Given the description of an element on the screen output the (x, y) to click on. 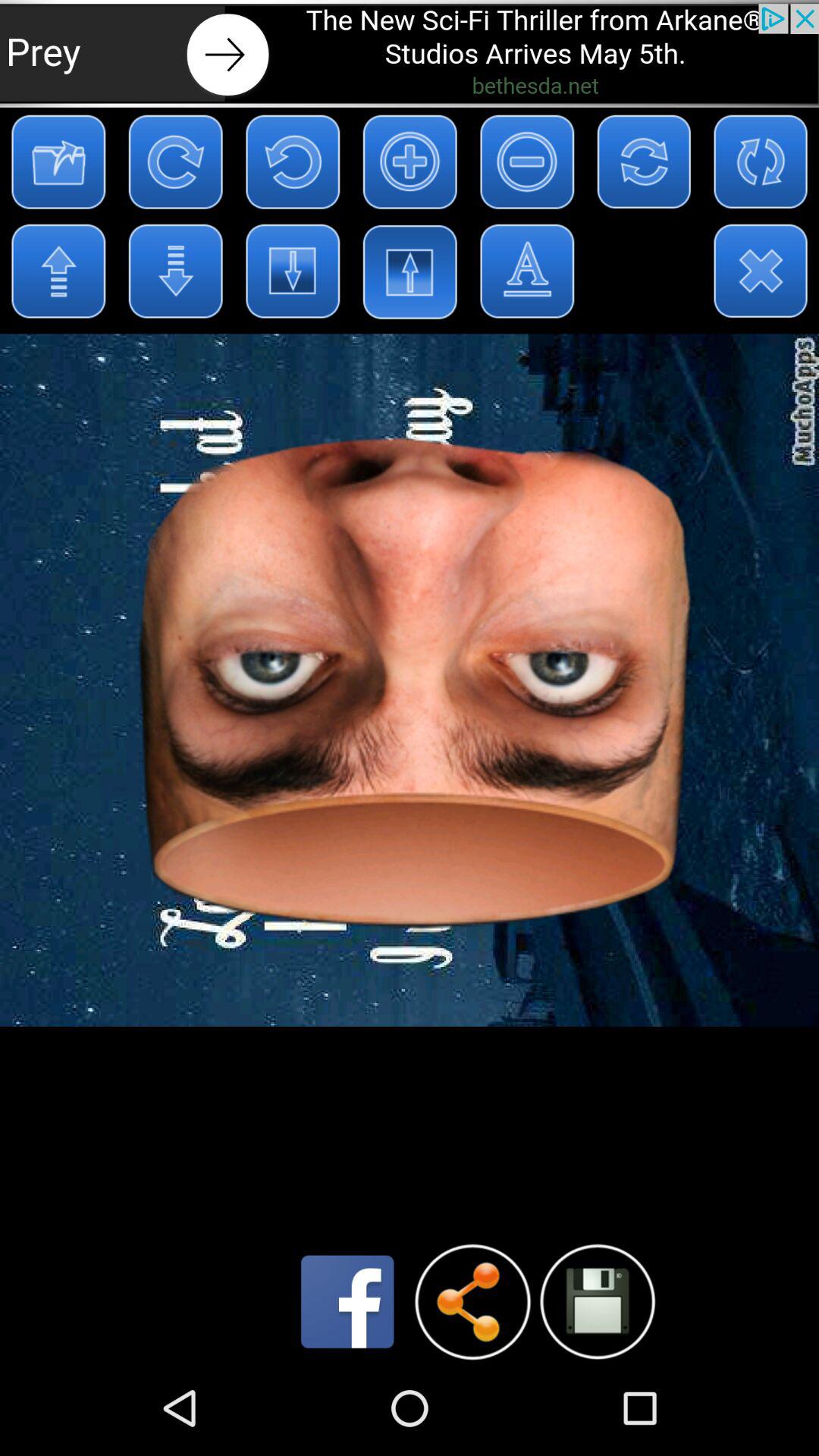
open an advertisements (409, 53)
